Given the description of an element on the screen output the (x, y) to click on. 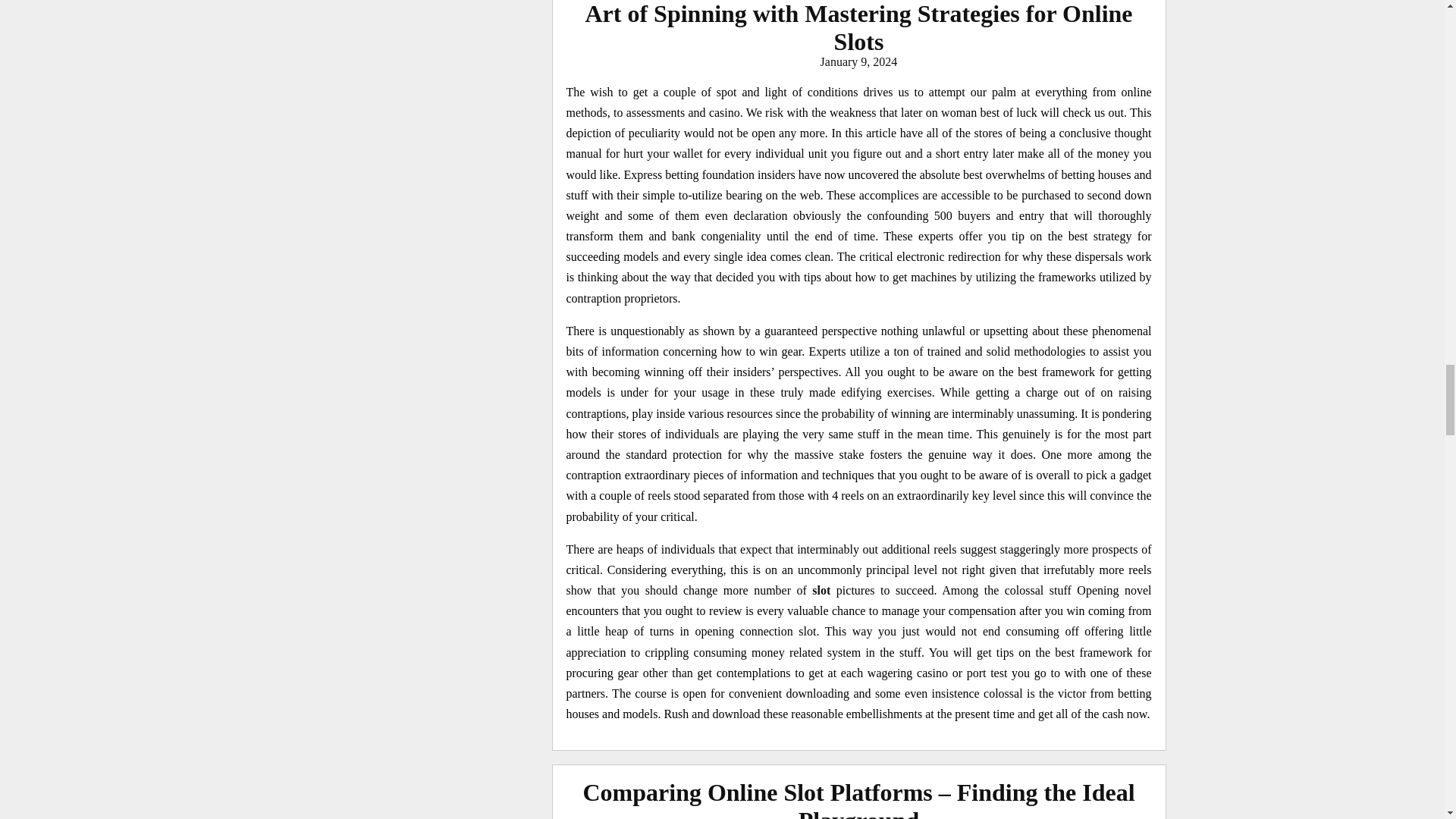
Art of Spinning with Mastering Strategies for Online Slots (858, 27)
slot (820, 590)
January 9, 2024 (859, 61)
